Given the description of an element on the screen output the (x, y) to click on. 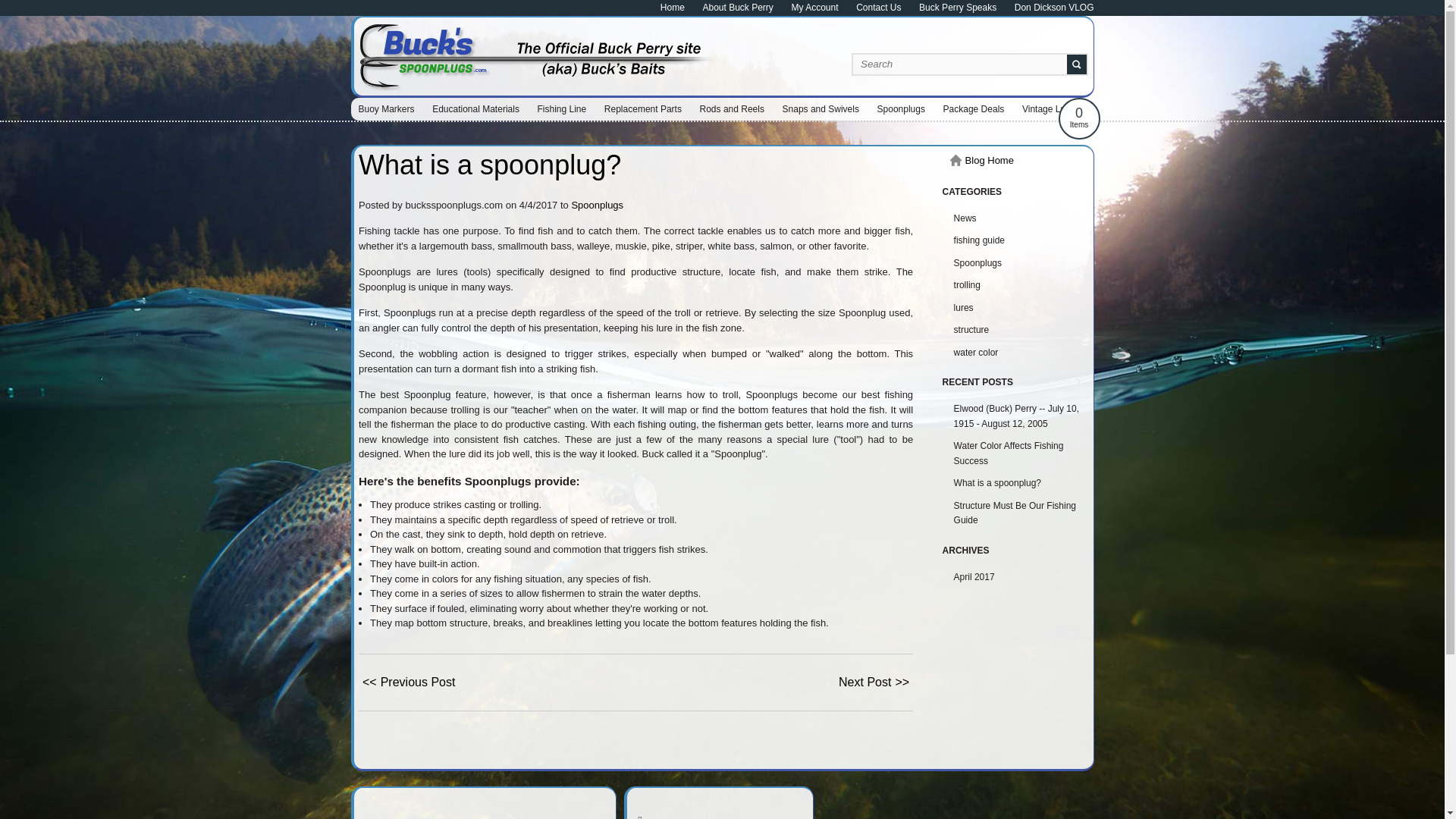
Fishing Line (561, 108)
What is a spoonplug? (489, 163)
Contact Us (878, 7)
About Buck Perry (737, 7)
Spoonplugs (901, 108)
Snaps and Swivels (820, 108)
Replacement Parts (642, 108)
Buoy Markers (386, 108)
Buck Perry Speaks (956, 7)
Package Deals (973, 108)
